Given the description of an element on the screen output the (x, y) to click on. 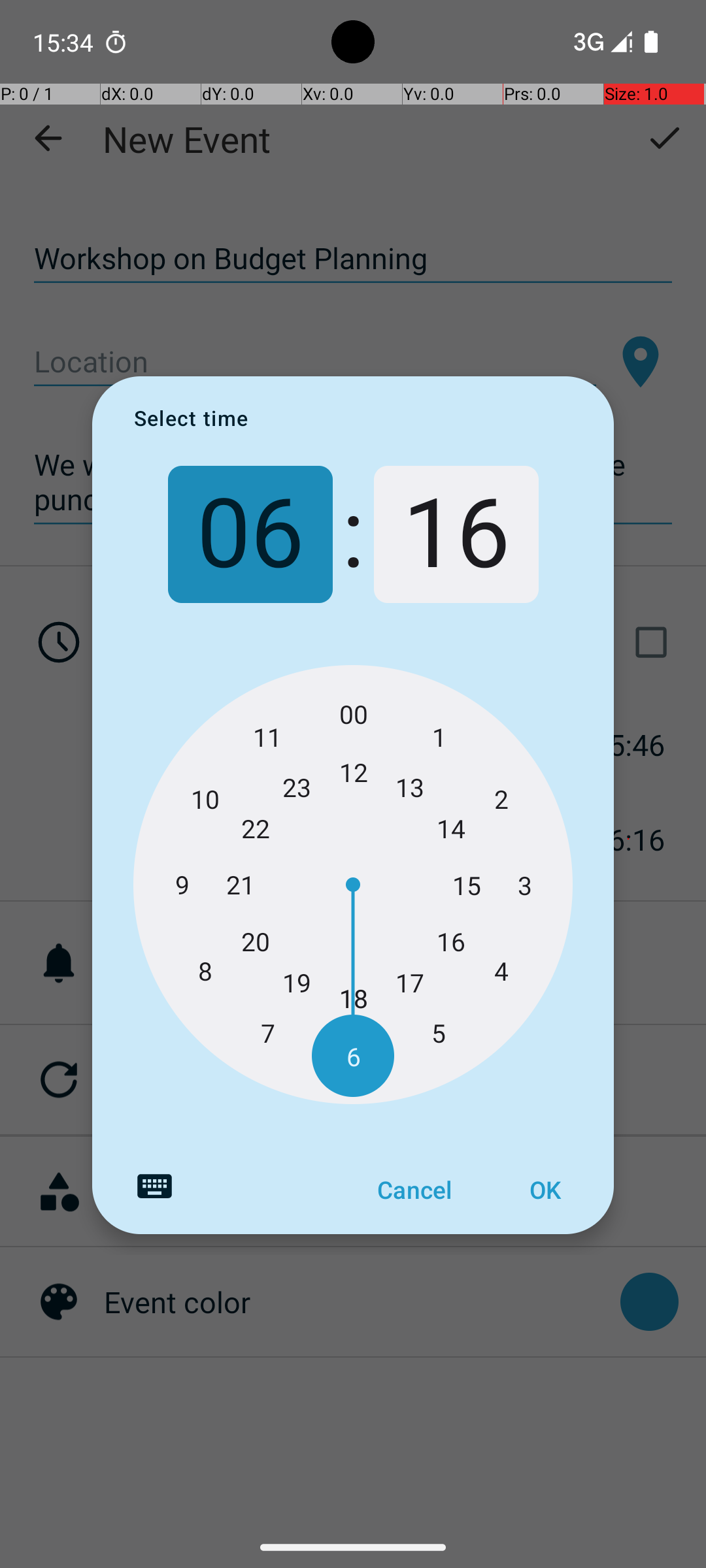
06 Element type: android.view.View (250, 534)
